Given the description of an element on the screen output the (x, y) to click on. 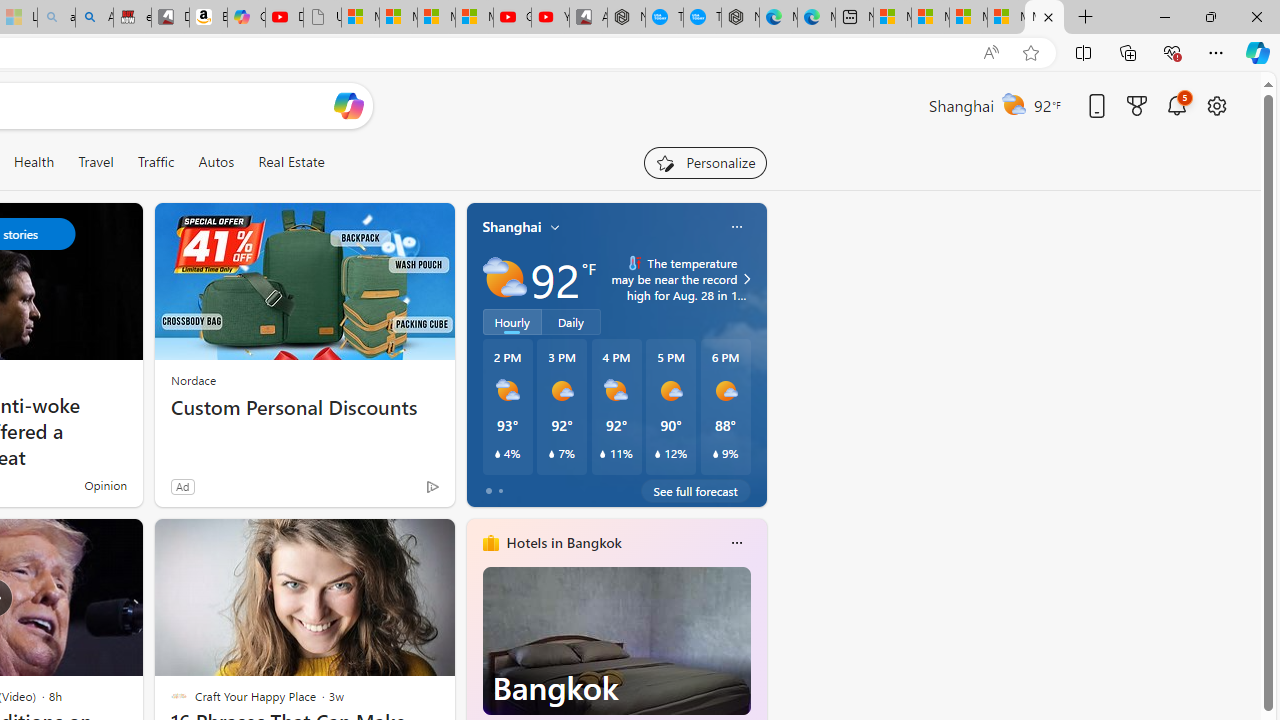
Personalize your feed" (704, 162)
Custom Personal Discounts (304, 407)
Copilot (245, 17)
Hourly (511, 321)
